Given the description of an element on the screen output the (x, y) to click on. 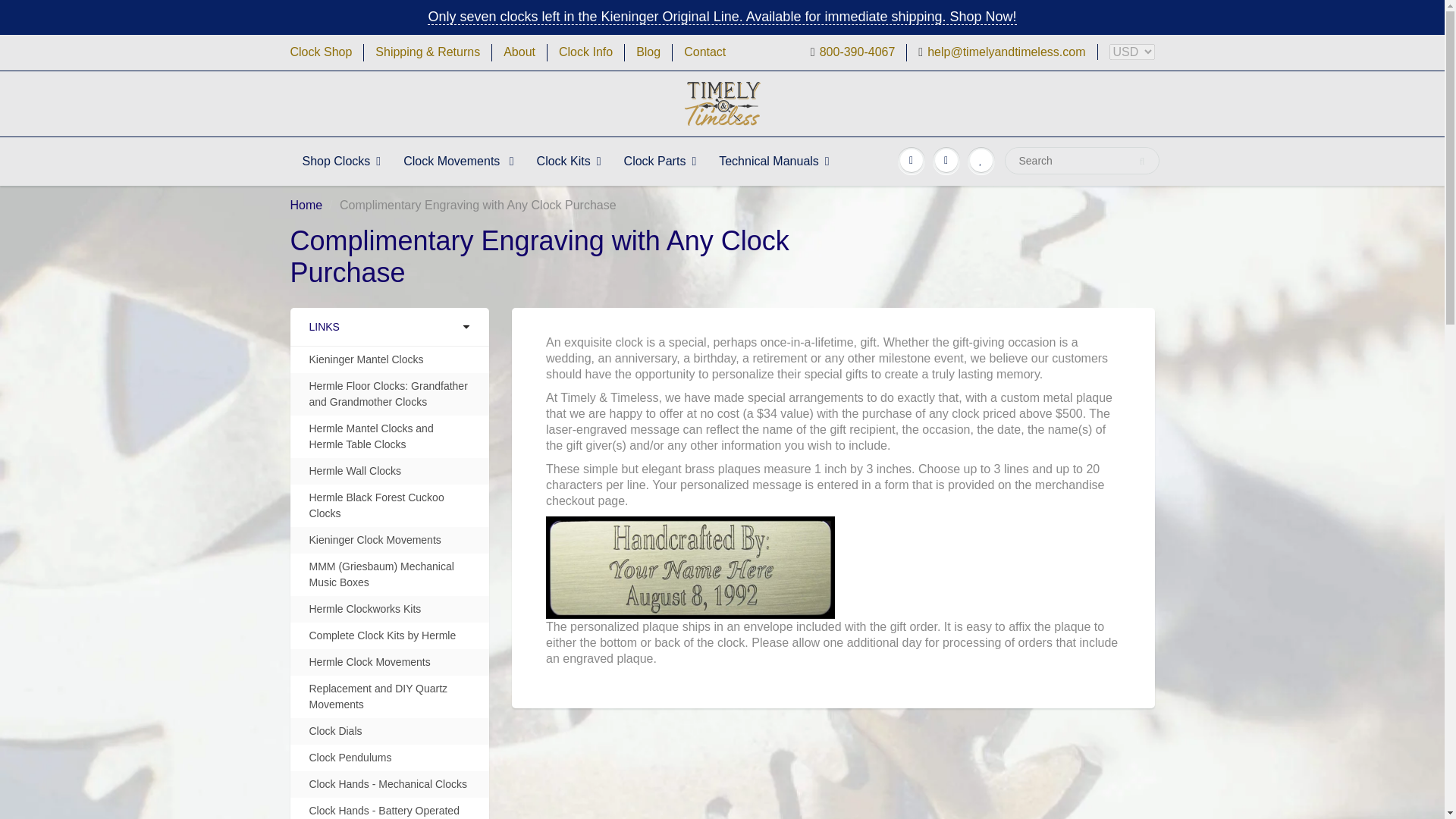
About (519, 52)
Clock Shop (320, 52)
Home (305, 205)
Blog (648, 52)
Clock Movements (457, 161)
Shop Clocks (342, 161)
Clock Kits (568, 161)
Contact (704, 52)
800-390-4067 (852, 52)
Clock Info (585, 52)
